Given the description of an element on the screen output the (x, y) to click on. 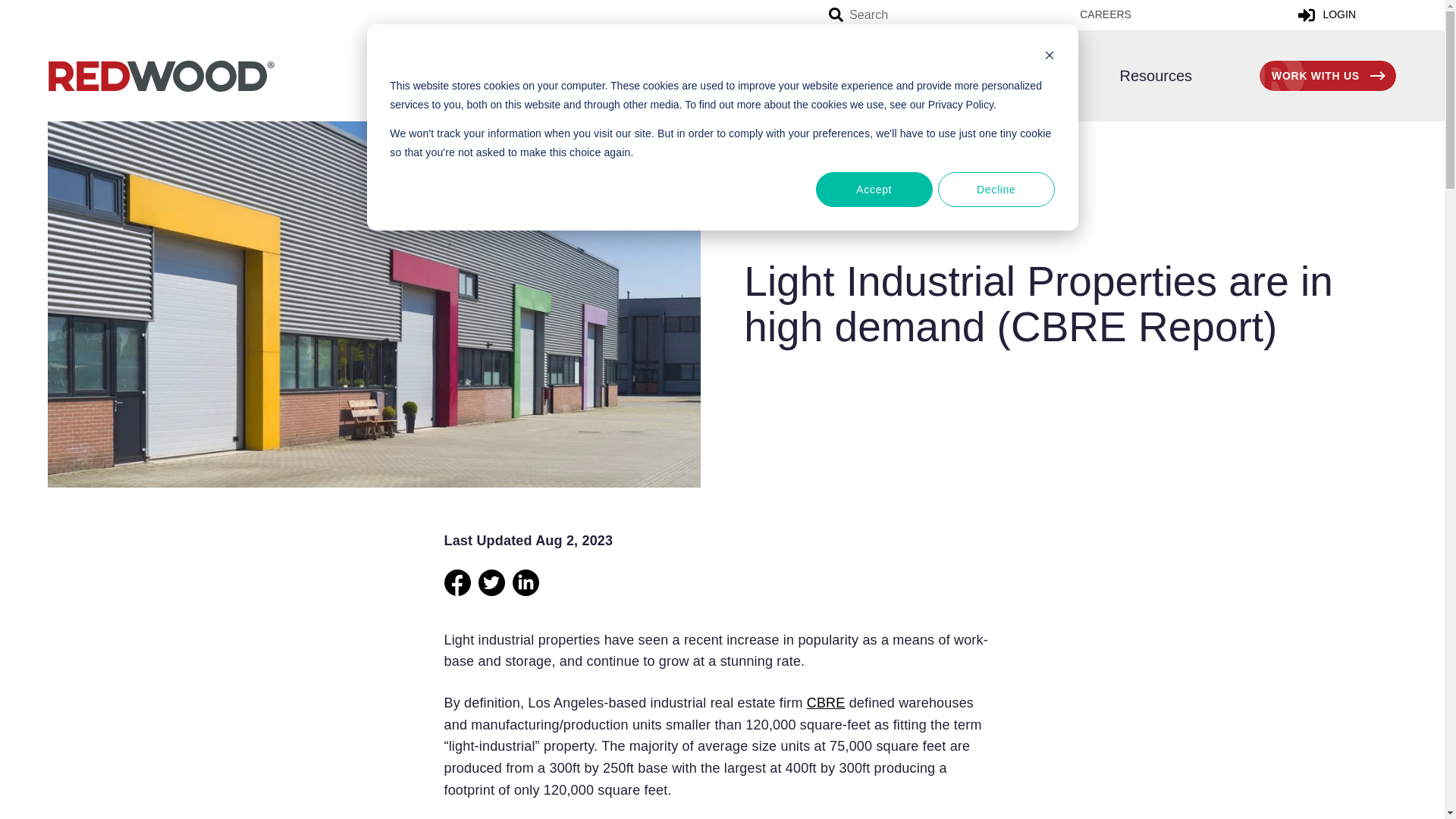
Technology (909, 75)
Partners (788, 75)
Resources (1142, 75)
Carriers (680, 75)
Shippers (583, 75)
